Given the description of an element on the screen output the (x, y) to click on. 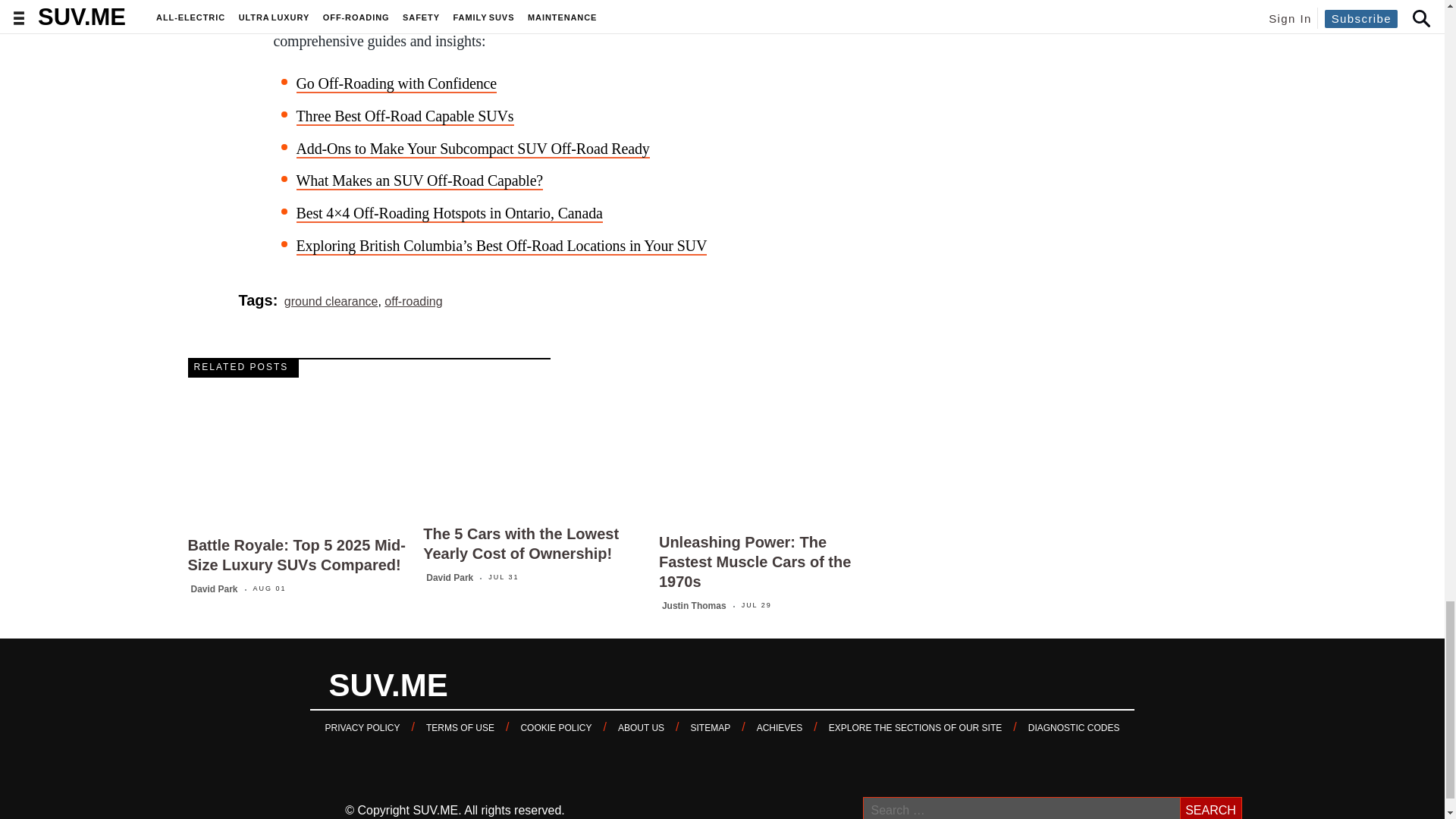
Search (1210, 807)
Search (1210, 807)
